Given the description of an element on the screen output the (x, y) to click on. 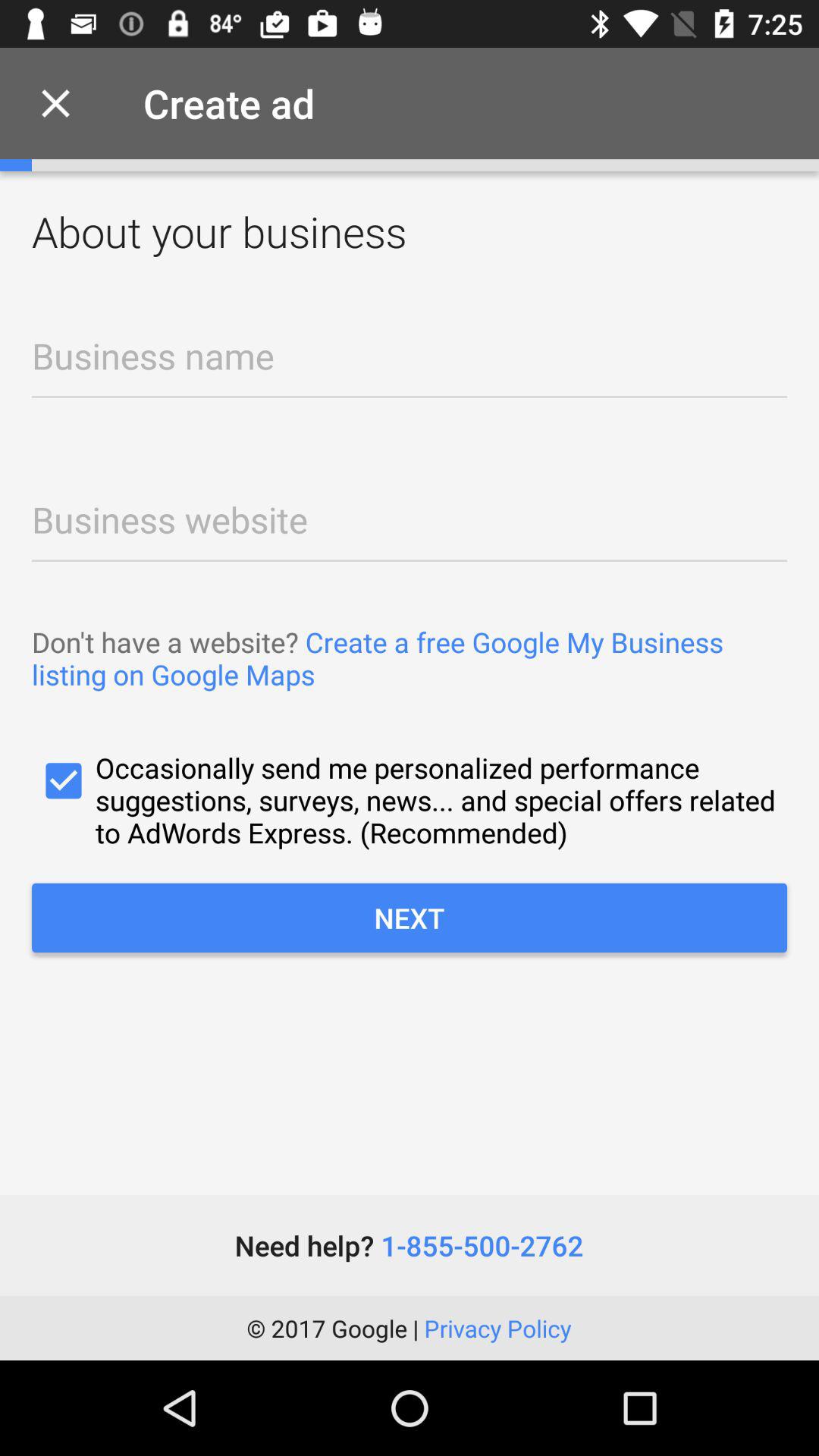
business website input field (409, 515)
